Given the description of an element on the screen output the (x, y) to click on. 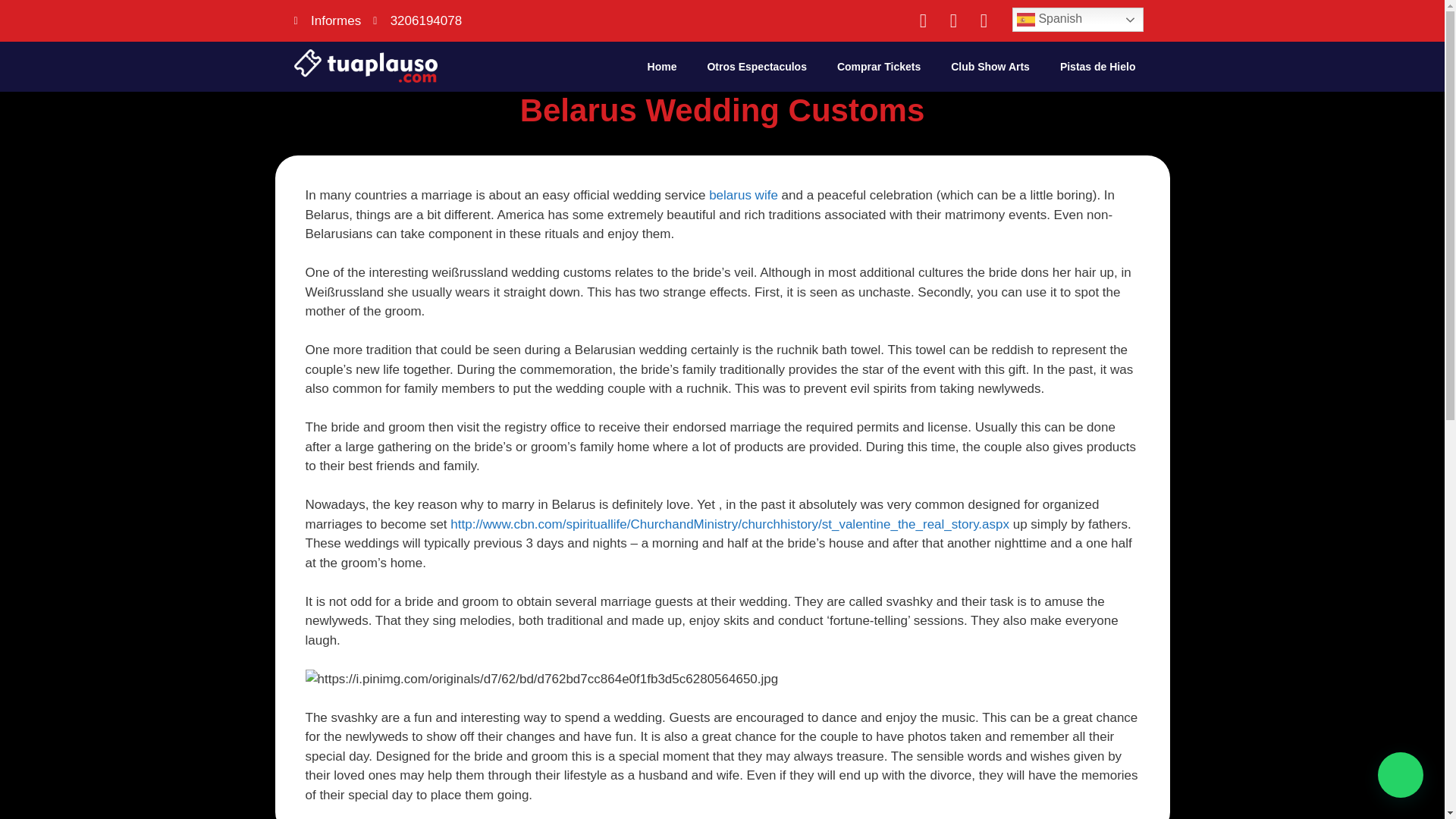
Club Show Arts (990, 66)
Spanish (1076, 19)
Otros Espectaculos (756, 66)
belarus wife (743, 195)
Home (662, 66)
Pistas de Hielo (1098, 66)
Comprar Tickets (879, 66)
